Given the description of an element on the screen output the (x, y) to click on. 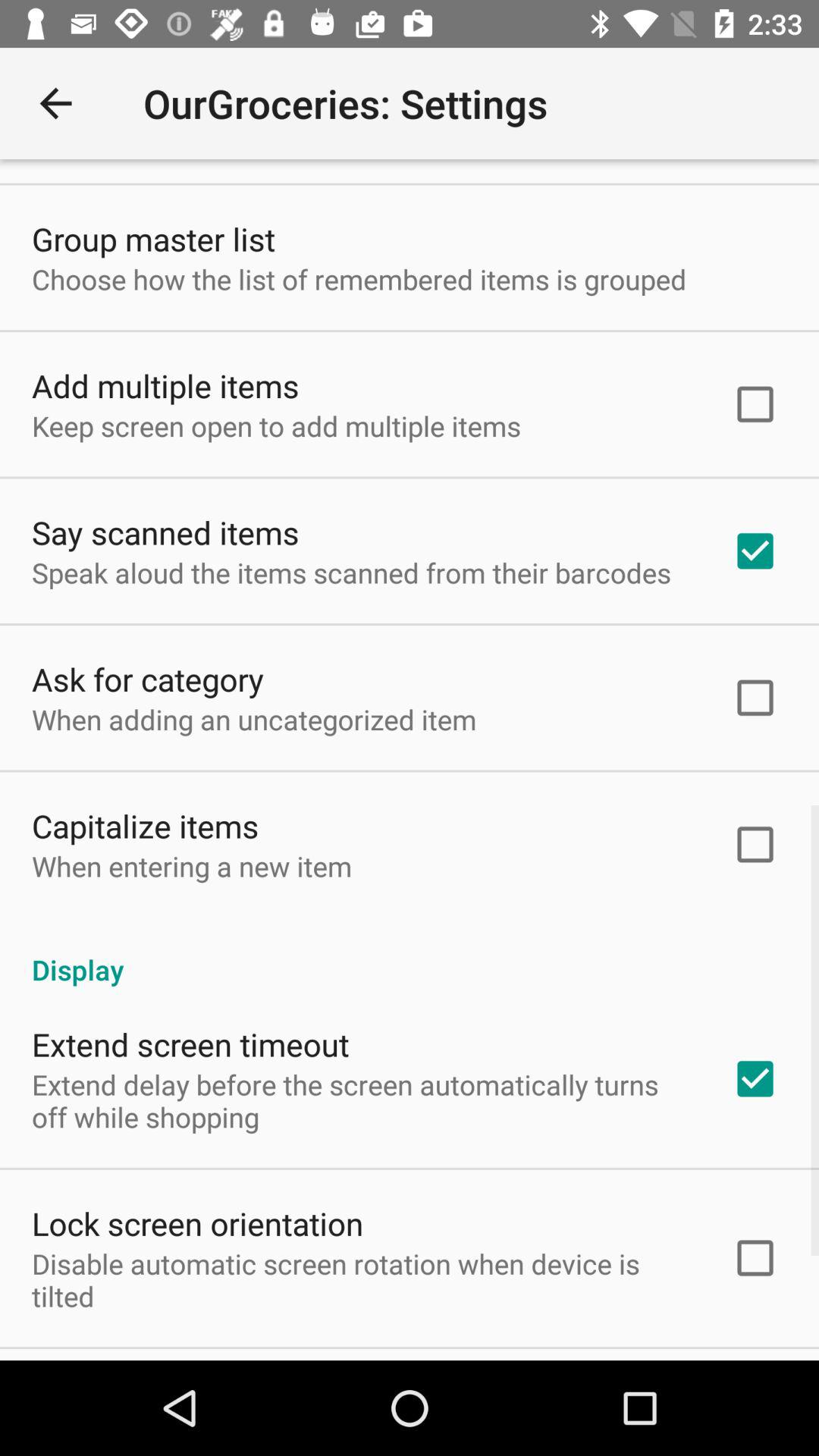
click the display (409, 953)
